Given the description of an element on the screen output the (x, y) to click on. 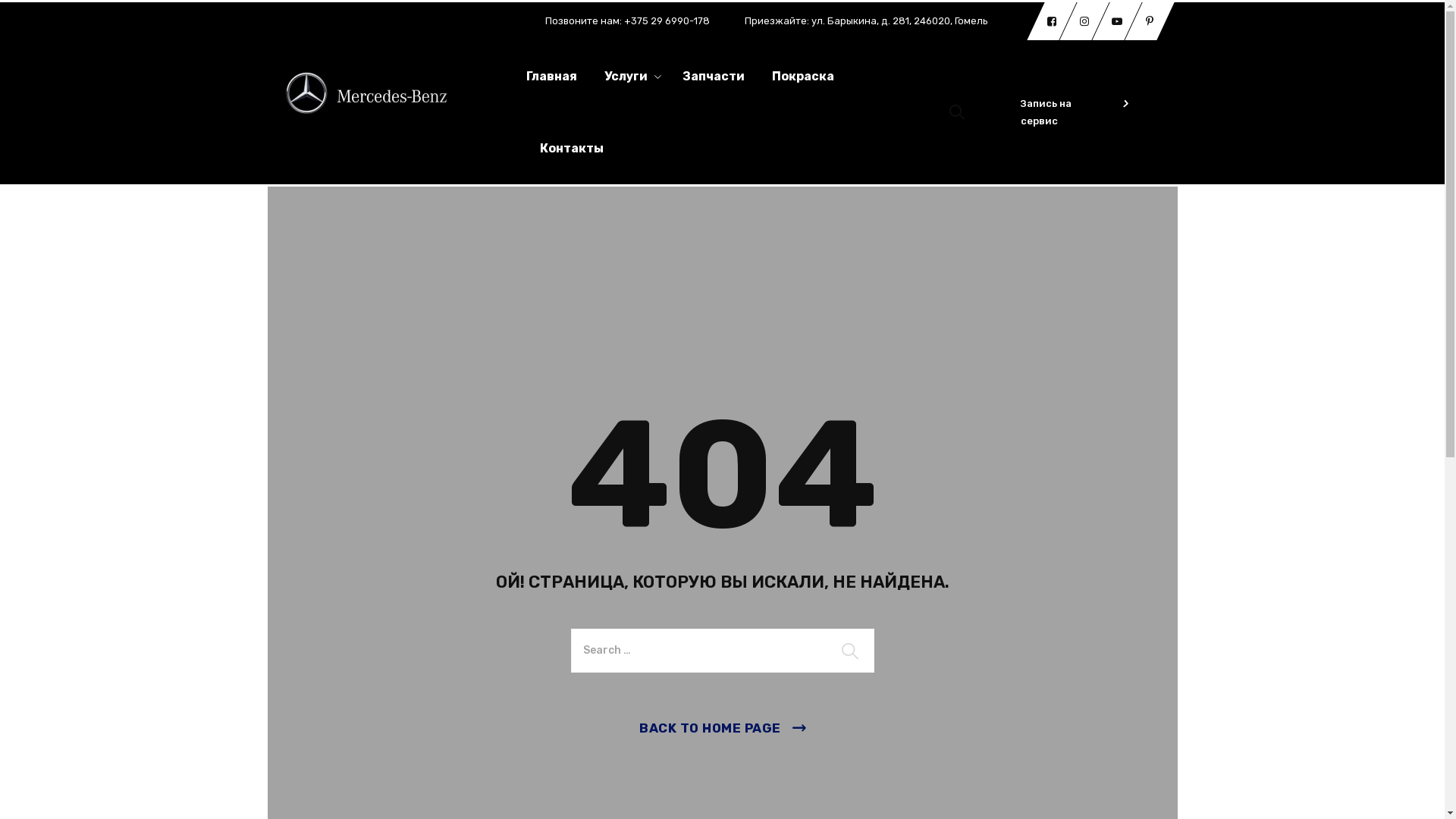
BACK TO HOME PAGE Element type: text (722, 728)
